Given the description of an element on the screen output the (x, y) to click on. 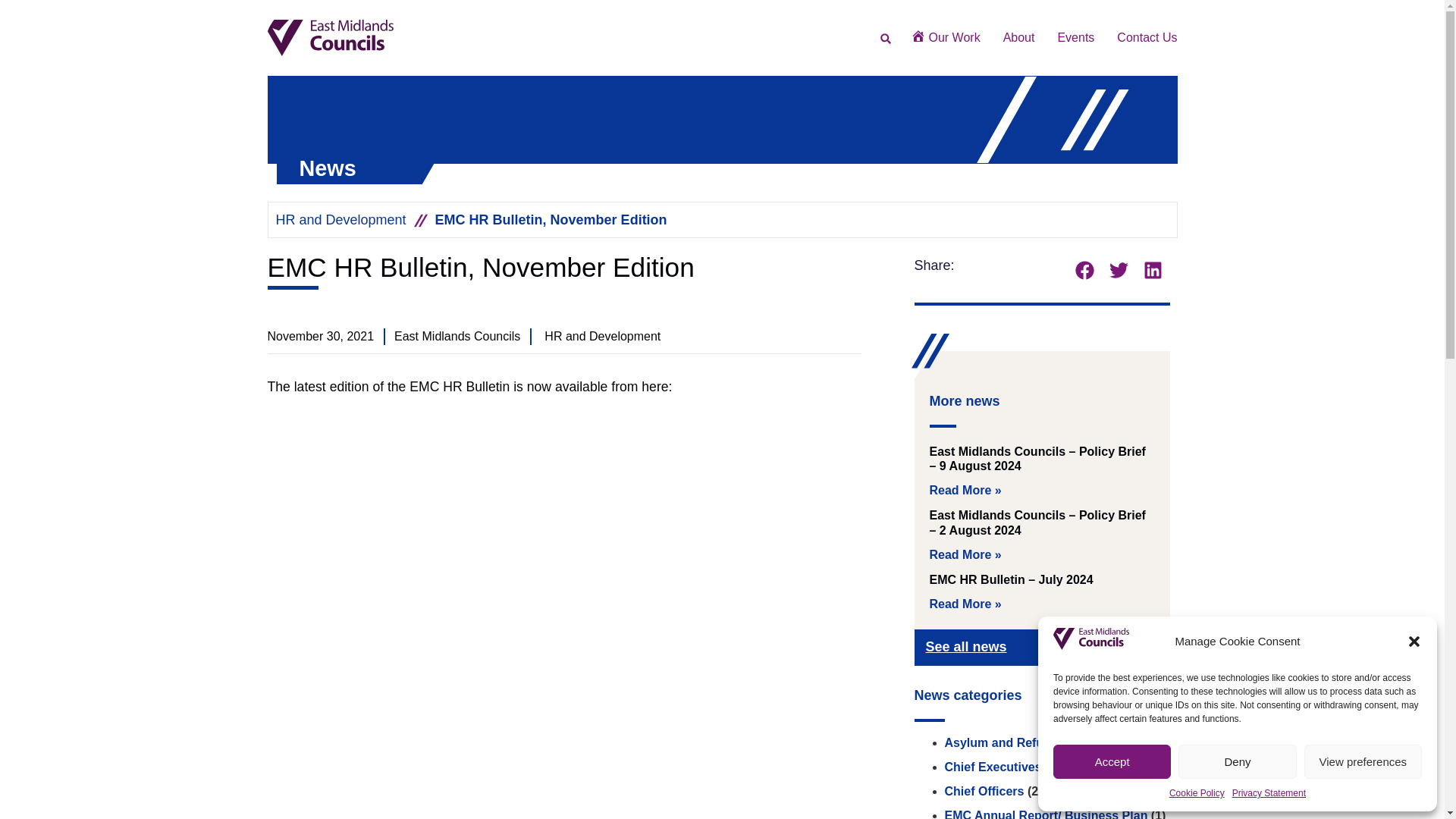
Accept (1111, 761)
Events (1075, 37)
About (1019, 37)
Contact Us (1146, 37)
View preferences (1363, 761)
Cookie Policy (1196, 793)
Our Work (945, 37)
HR and Development (341, 219)
Our Work (945, 37)
Contact East Midlands Councils (1146, 37)
